Given the description of an element on the screen output the (x, y) to click on. 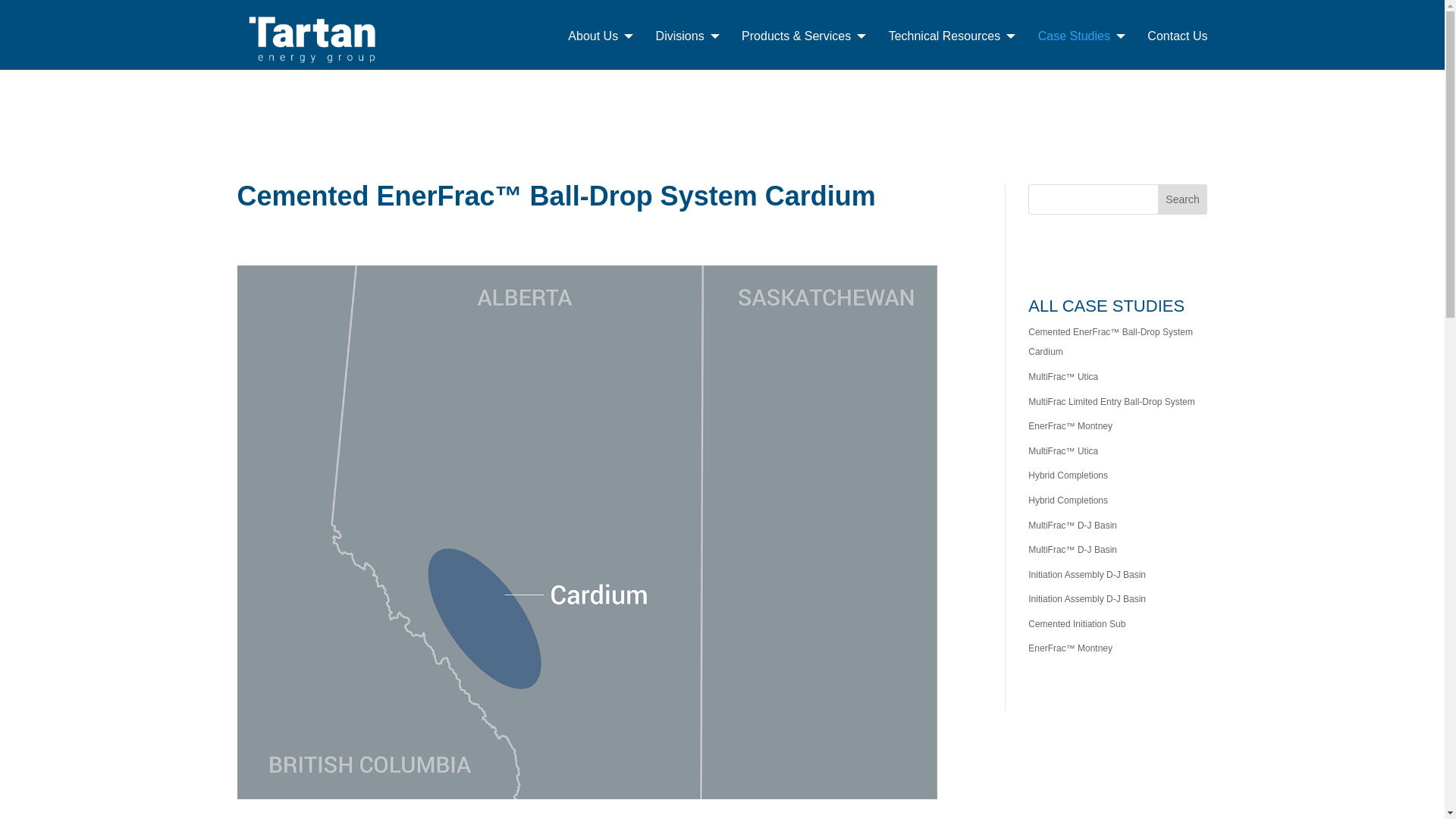
About Us (600, 48)
Search (1182, 199)
Divisions (687, 48)
